Given the description of an element on the screen output the (x, y) to click on. 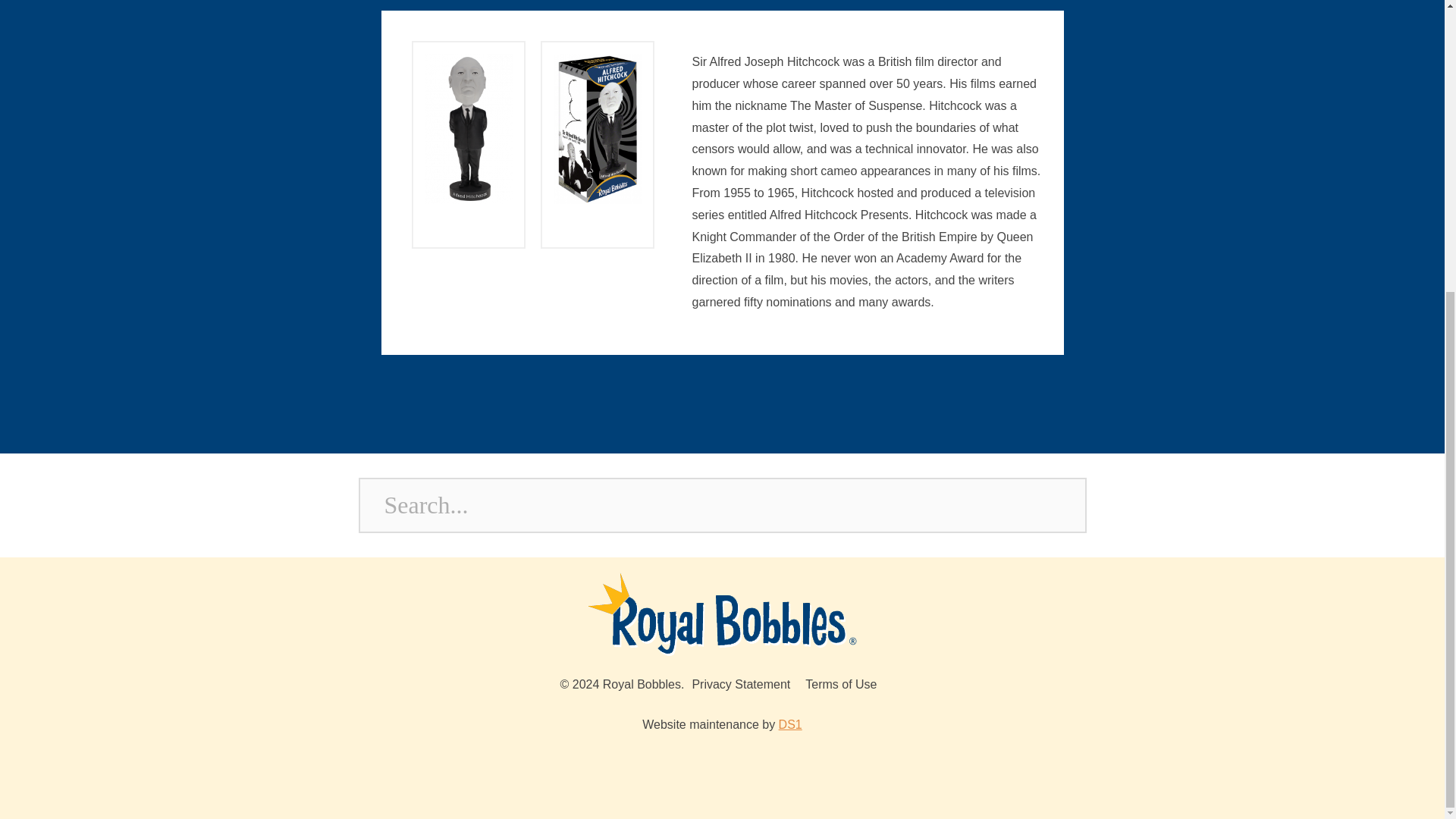
Terms of Use (840, 684)
RoyalBobbles (721, 614)
Privacy Statement (740, 684)
DS1 (790, 724)
Search... (722, 505)
